Given the description of an element on the screen output the (x, y) to click on. 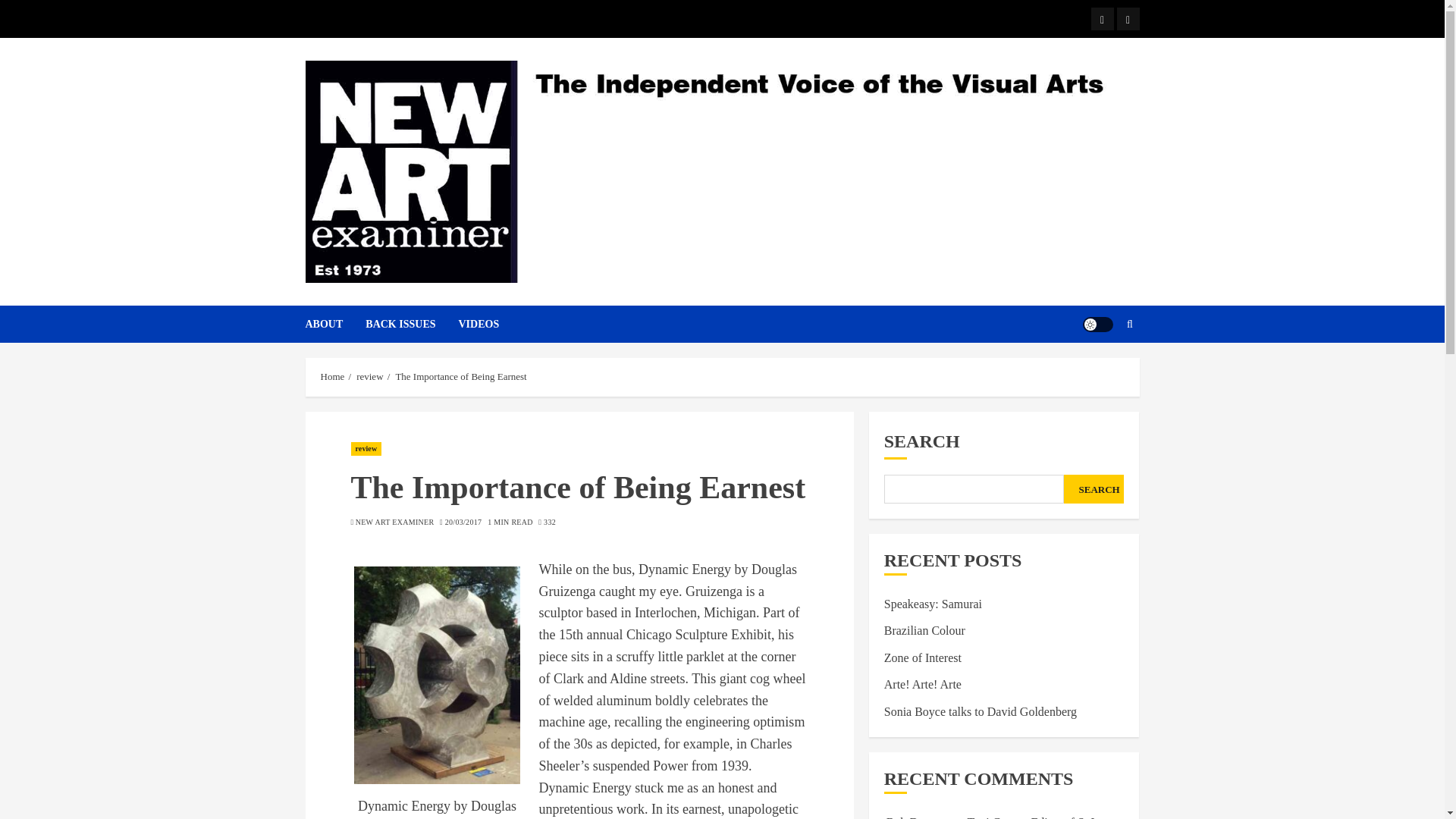
Brazilian Colour (924, 631)
review (369, 377)
Bob Dawson (917, 817)
Search (1099, 369)
Sonia Boyce talks to David Goldenberg (980, 712)
Facebook (1101, 18)
Speakeasy: Samurai (932, 603)
Home (331, 377)
review (365, 448)
Arte! Arte! Arte (921, 684)
